Given the description of an element on the screen output the (x, y) to click on. 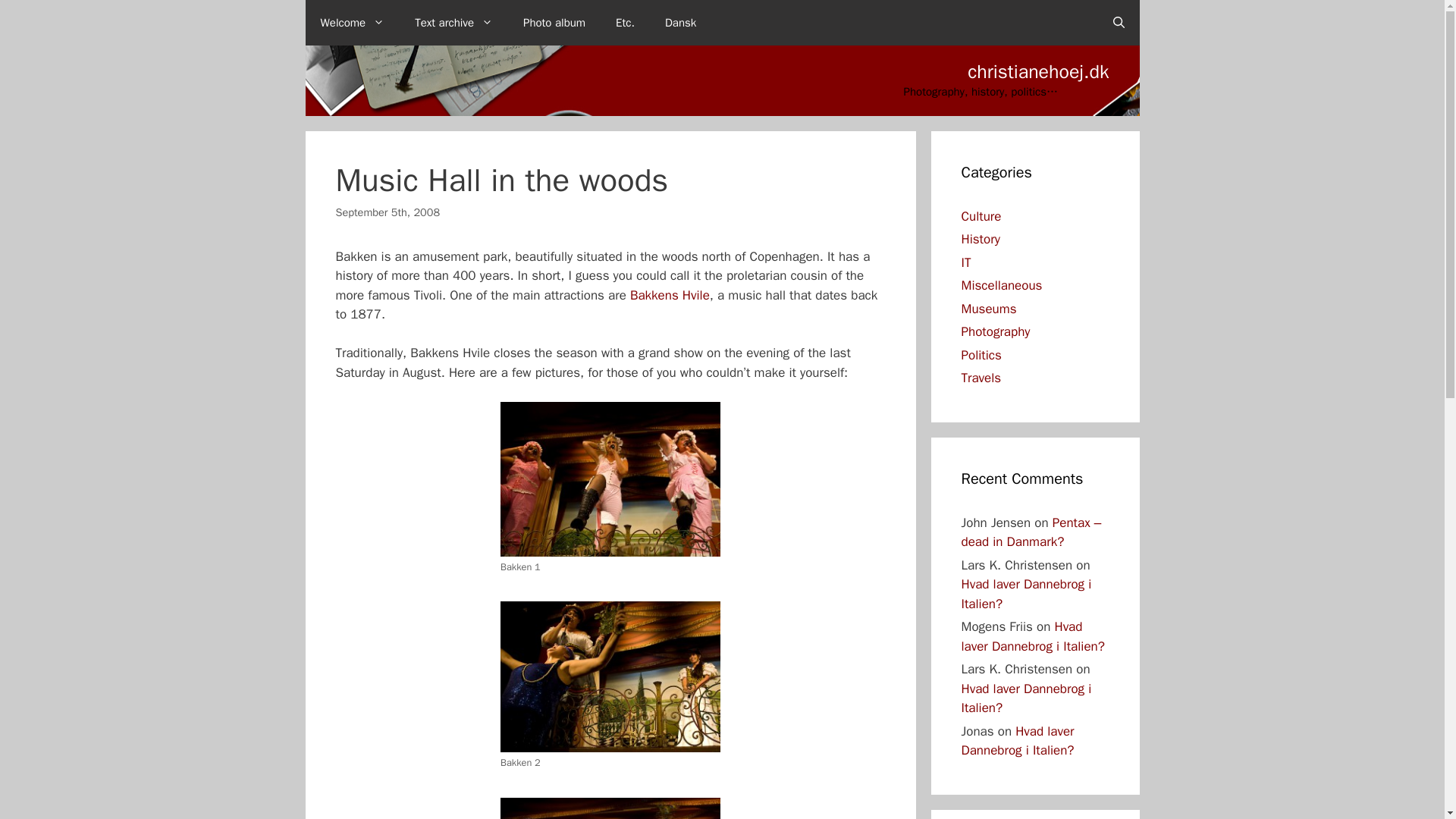
Politics (980, 355)
Text archive (453, 22)
Culture (980, 215)
History (980, 238)
Museums (988, 308)
Hvad laver Dannebrog i Italien? (1026, 593)
Welcome (351, 22)
Dansk (680, 22)
Travels (980, 377)
Miscellaneous (1001, 285)
Bakkens Hvile (670, 295)
Photo album (553, 22)
Hvad laver Dannebrog i Italien? (1026, 698)
IT (965, 262)
Etc. (624, 22)
